Given the description of an element on the screen output the (x, y) to click on. 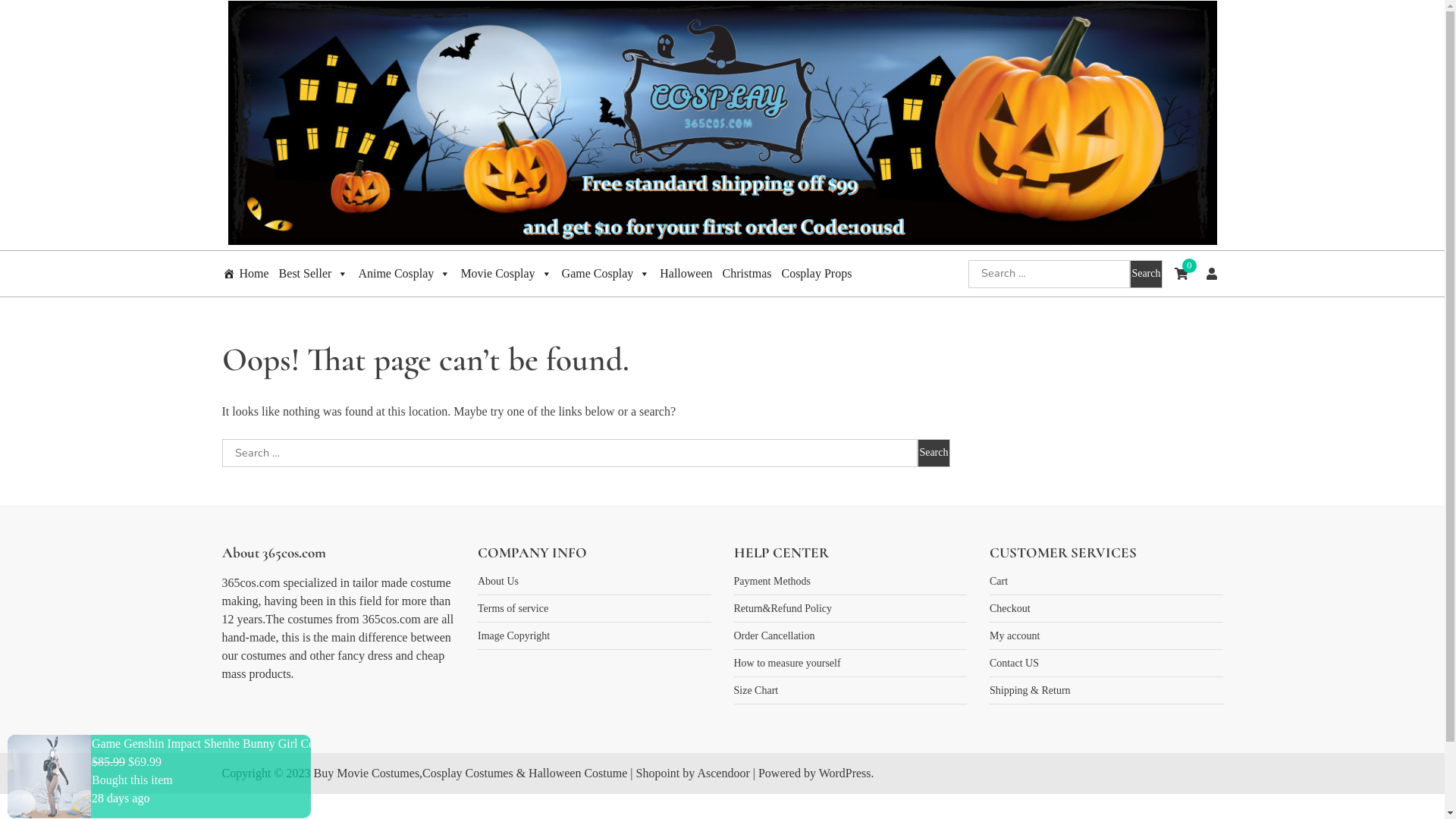
How to measure yourself Element type: text (787, 662)
My account Element type: text (1014, 635)
Search Element type: text (1145, 273)
Buy Movie Costumes,Cosplay Costumes & Halloween Costume Element type: text (567, 268)
Anime Cosplay Element type: text (404, 273)
Shipping & Return Element type: text (1029, 690)
Order Cancellation Element type: text (774, 635)
Ascendoor Element type: text (722, 772)
Game Cosplay Element type: text (606, 273)
Checkout Element type: text (1009, 608)
Halloween Element type: text (685, 273)
Search Element type: text (933, 453)
Account Element type: hover (1210, 273)
Image Copyright Element type: text (513, 635)
Payment Methods Element type: text (772, 580)
Size Chart Element type: text (756, 690)
About Us Element type: text (497, 580)
Home Element type: text (245, 273)
Terms of service Element type: text (512, 608)
Best Seller Element type: text (313, 273)
Cosplay Props Element type: text (816, 273)
Buy Movie Costumes,Cosplay Costumes & Halloween Costume Element type: text (470, 772)
Contact US Element type: text (1013, 662)
Return&Refund Policy Element type: text (783, 608)
WordPress Element type: text (845, 772)
Christmas Element type: text (746, 273)
Movie Cosplay Element type: text (505, 273)
0 Element type: text (1180, 273)
Cart Element type: text (998, 580)
